Given the description of an element on the screen output the (x, y) to click on. 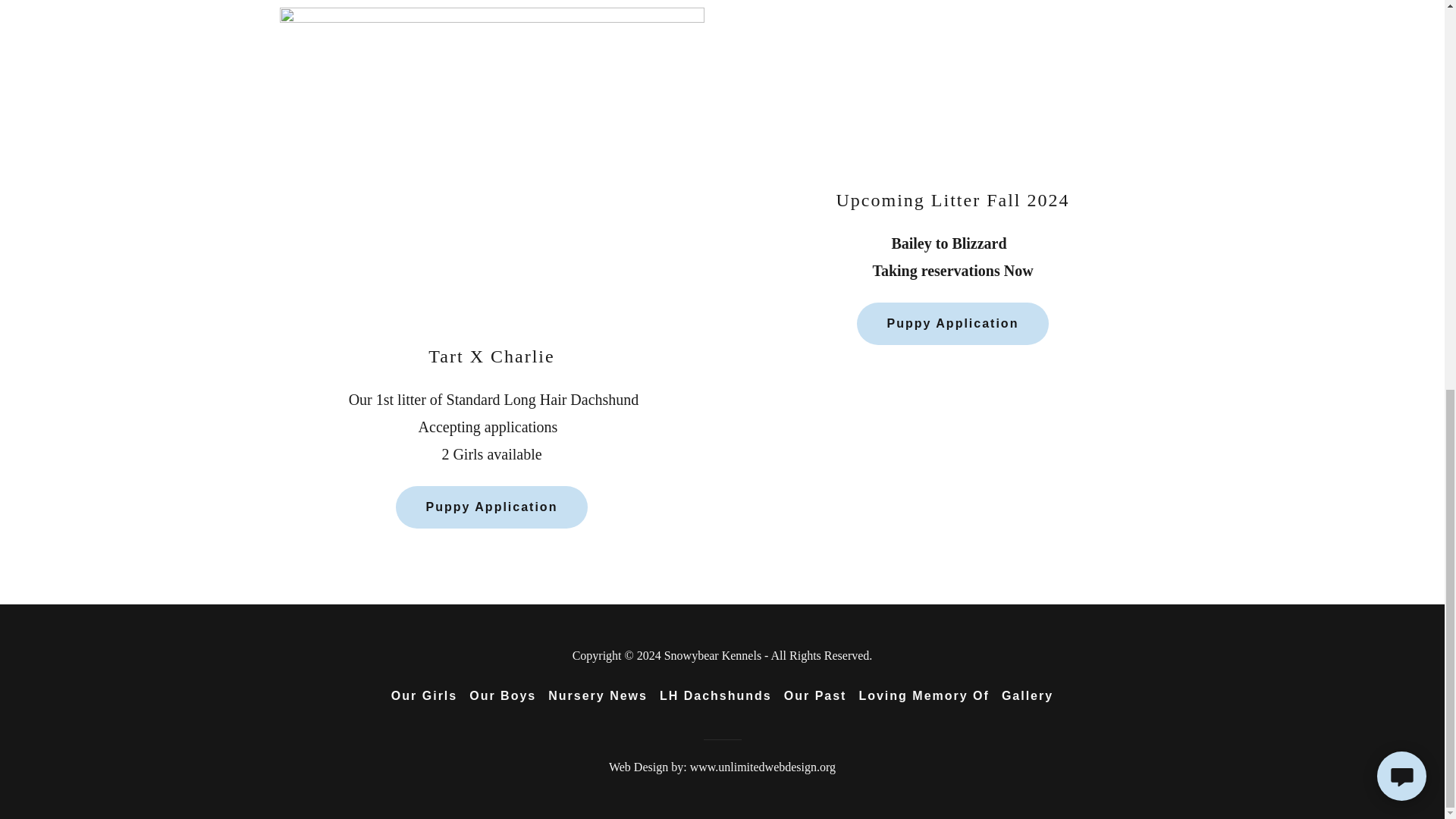
Puppy Application (953, 323)
Puppy Application (492, 507)
Our Girls (424, 696)
